Given the description of an element on the screen output the (x, y) to click on. 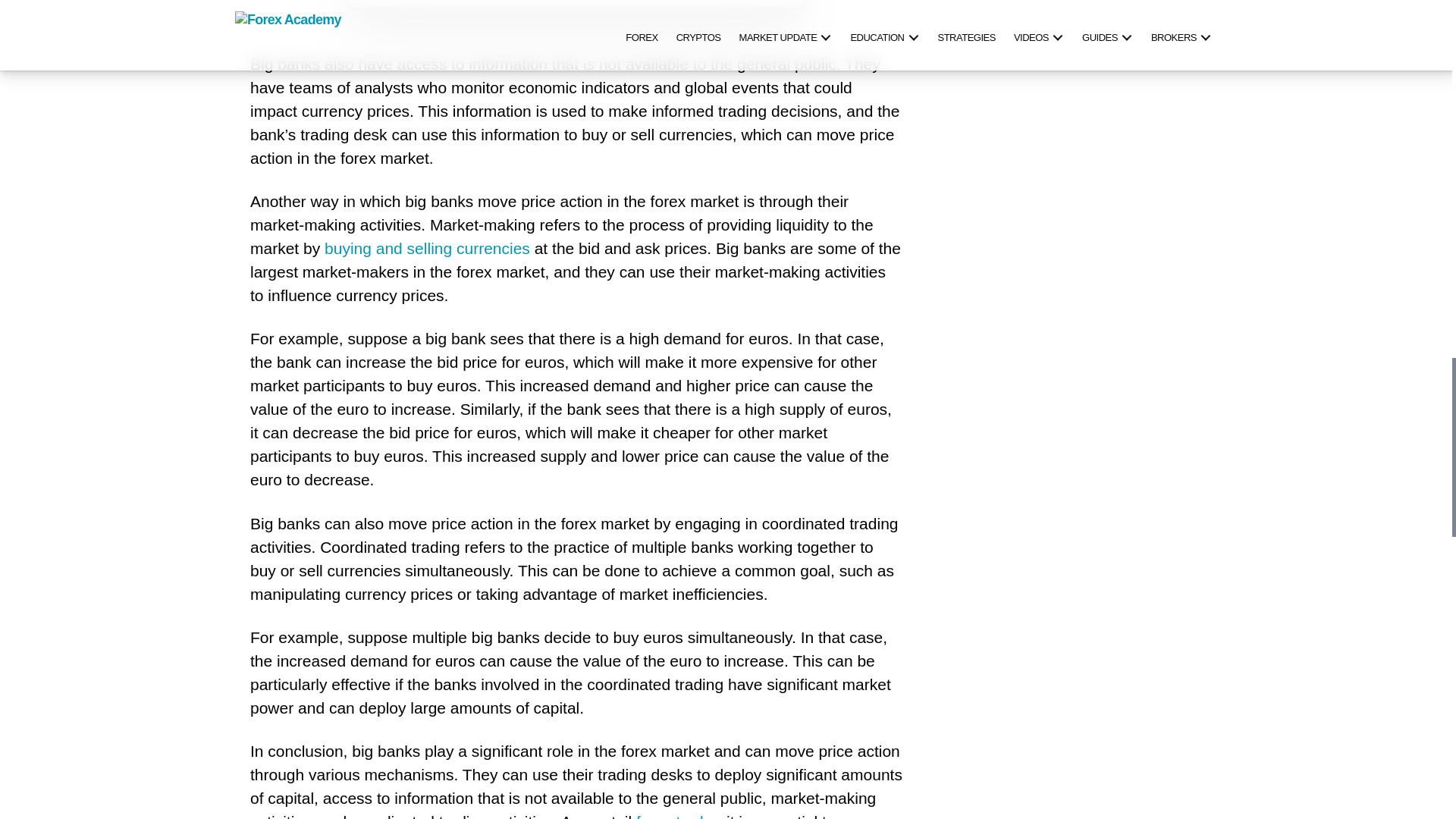
forex trader (676, 814)
buying and selling currencies (426, 249)
